Given the description of an element on the screen output the (x, y) to click on. 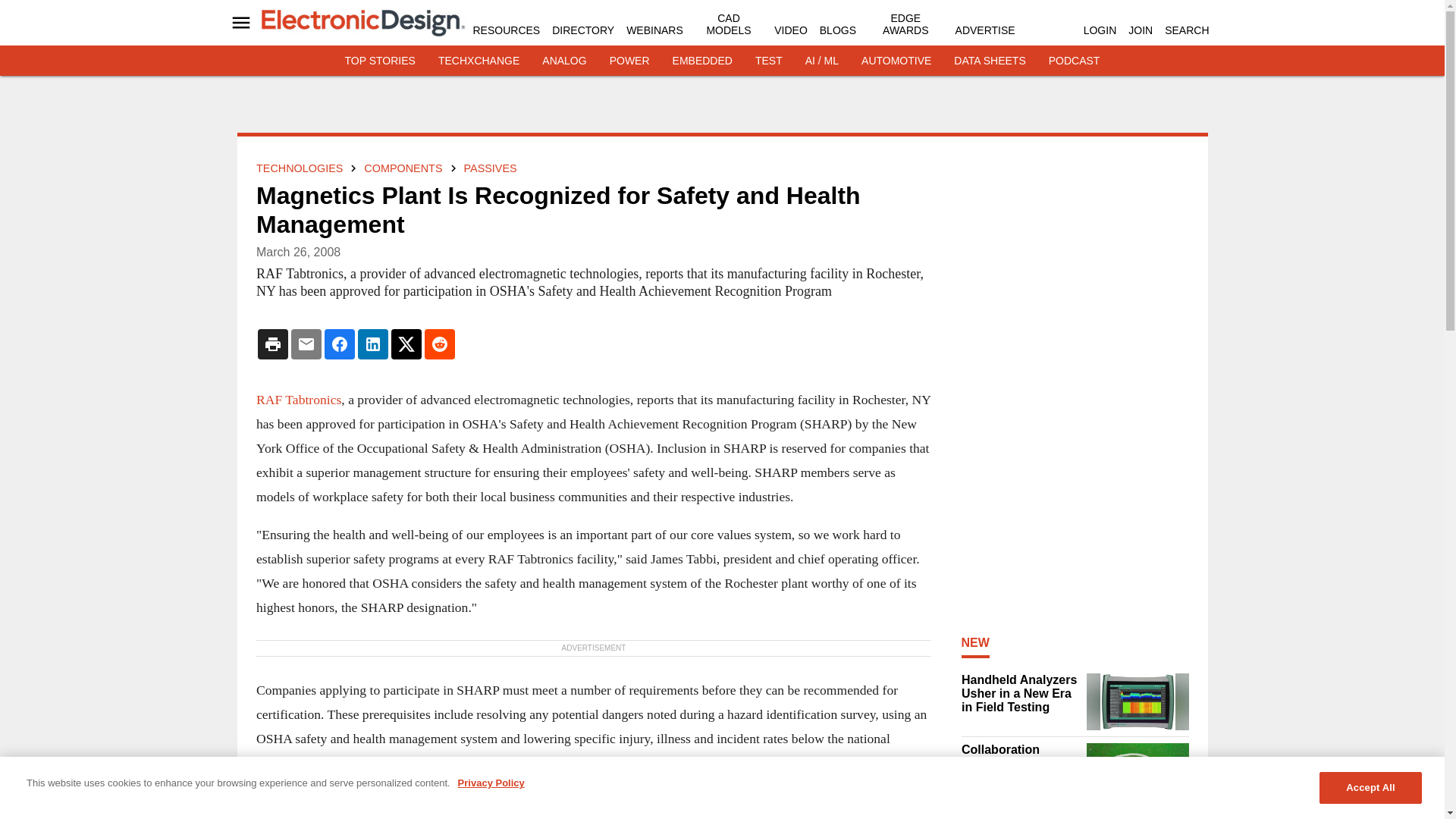
TOP STORIES (379, 60)
LOGIN (1099, 30)
PODCAST (1074, 60)
CAD MODELS (728, 24)
POWER (629, 60)
RESOURCES (506, 30)
SEARCH (1186, 30)
EDGE AWARDS (905, 24)
DATA SHEETS (989, 60)
DIRECTORY (582, 30)
AUTOMOTIVE (896, 60)
ADVERTISE (984, 30)
JOIN (1140, 30)
TEST (769, 60)
WEBINARS (654, 30)
